Given the description of an element on the screen output the (x, y) to click on. 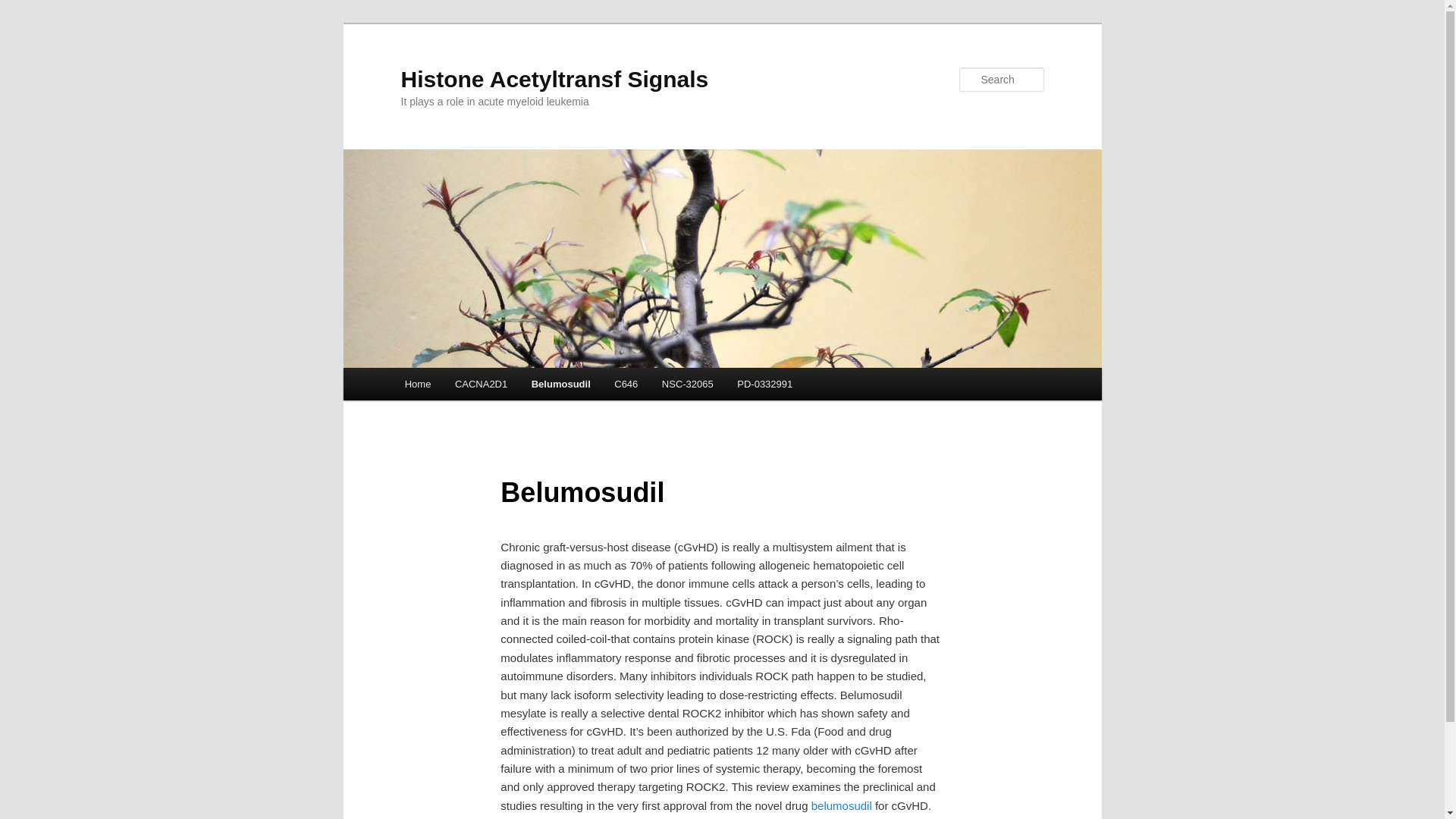
Skip to primary content (472, 386)
belumosudil (841, 805)
Belumosudil (560, 383)
Skip to secondary content (479, 386)
Skip to secondary content (479, 386)
Histone Acetyltransf Signals (553, 78)
Home (417, 383)
C646 (625, 383)
CACNA2D1 (480, 383)
PD-0332991 (765, 383)
